Given the description of an element on the screen output the (x, y) to click on. 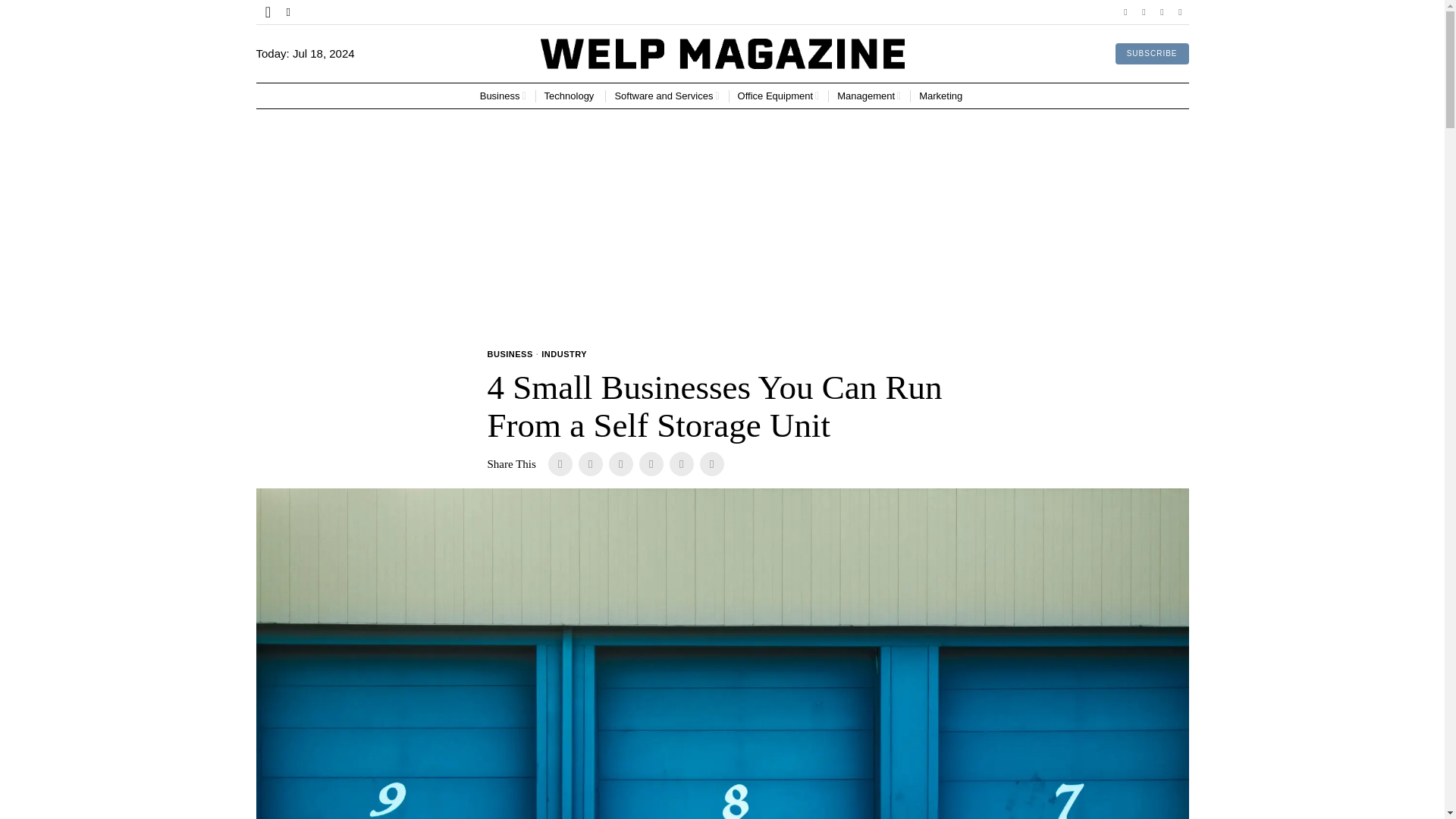
BUSINESS (509, 354)
INDUSTRY (563, 354)
Marketing (942, 95)
Software and Services (666, 95)
SUBSCRIBE (1152, 53)
Management (869, 95)
Office Equipment (778, 95)
Technology (570, 95)
Business (502, 95)
